Given the description of an element on the screen output the (x, y) to click on. 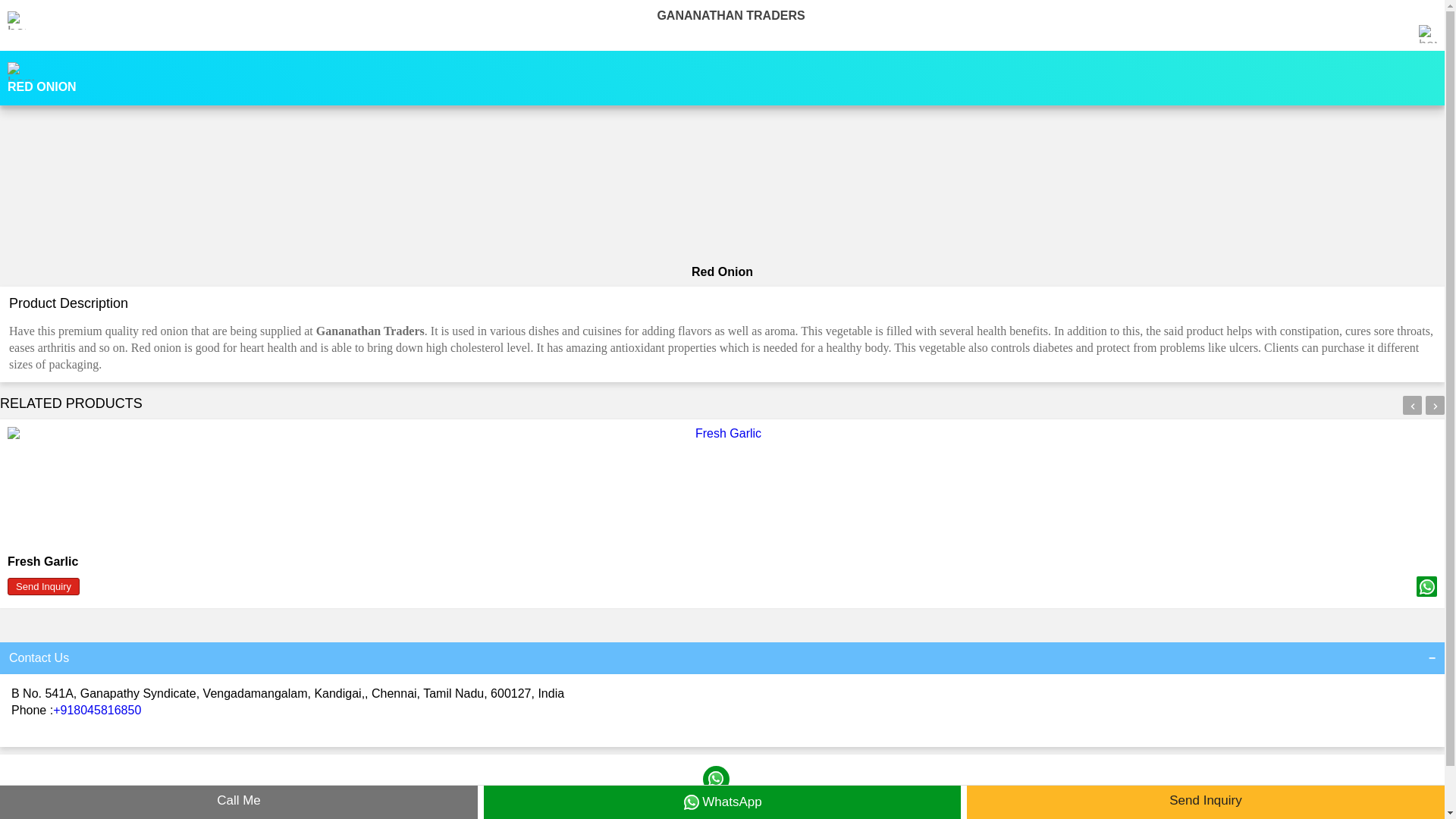
WhatsApp (716, 798)
Call Me (238, 802)
Fresh Garlic (42, 561)
WhatsApp (721, 802)
Call Me Free (1187, 798)
Send Inquiry (246, 798)
Send Inquiry (43, 586)
